Given the description of an element on the screen output the (x, y) to click on. 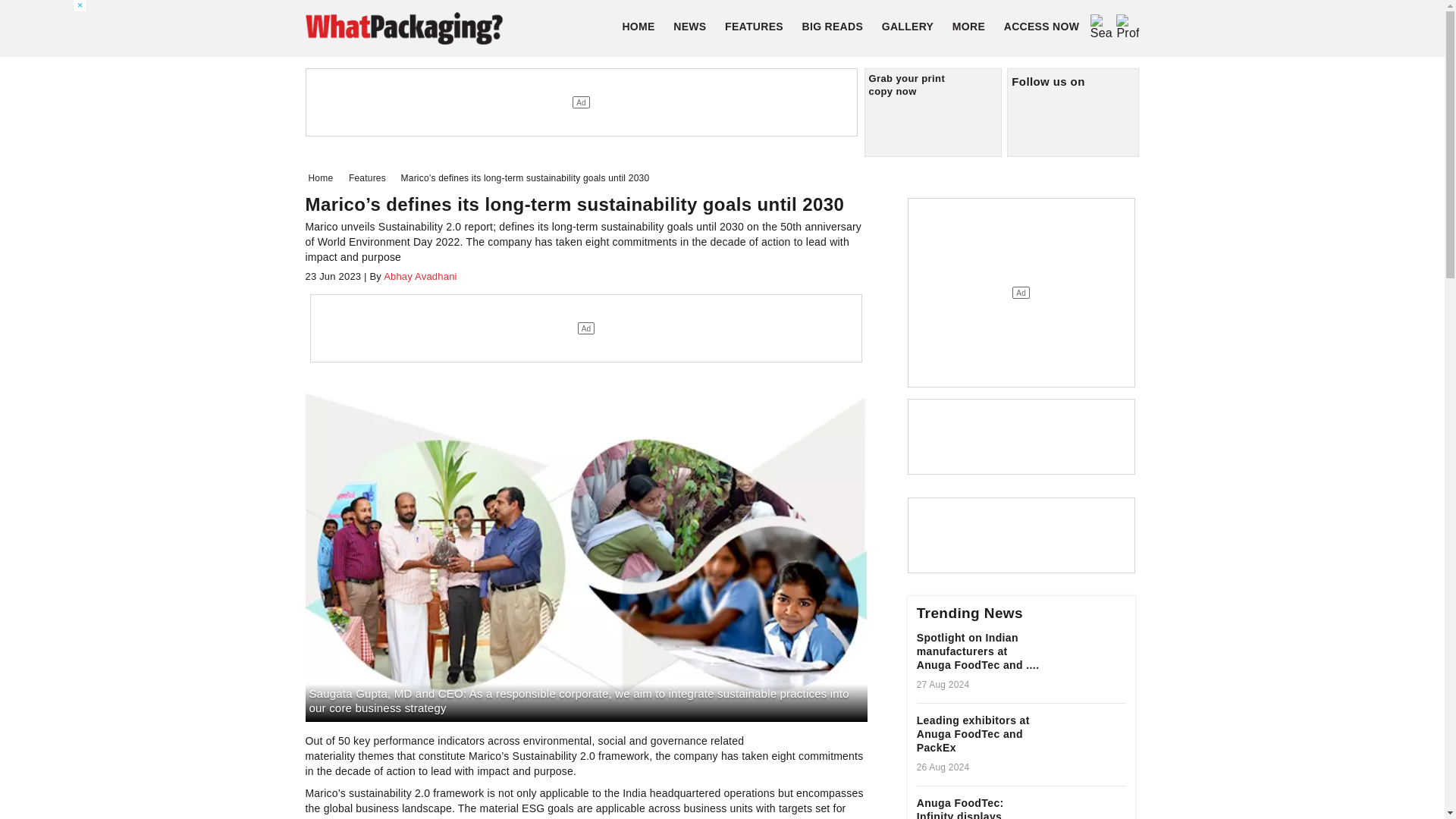
ACCESS NOW (1040, 26)
Abhay Avadhani (419, 276)
Anuga FoodTec: Infinity displays secondary packaging ma.... (979, 807)
Spotlight on Indian manufacturers at Anuga FoodTec and .... (979, 653)
Leading exhibitors at Anuga FoodTec and PackEx (979, 736)
Home (323, 177)
Features (370, 177)
FEATURES (753, 26)
HOME (638, 26)
